Given the description of an element on the screen output the (x, y) to click on. 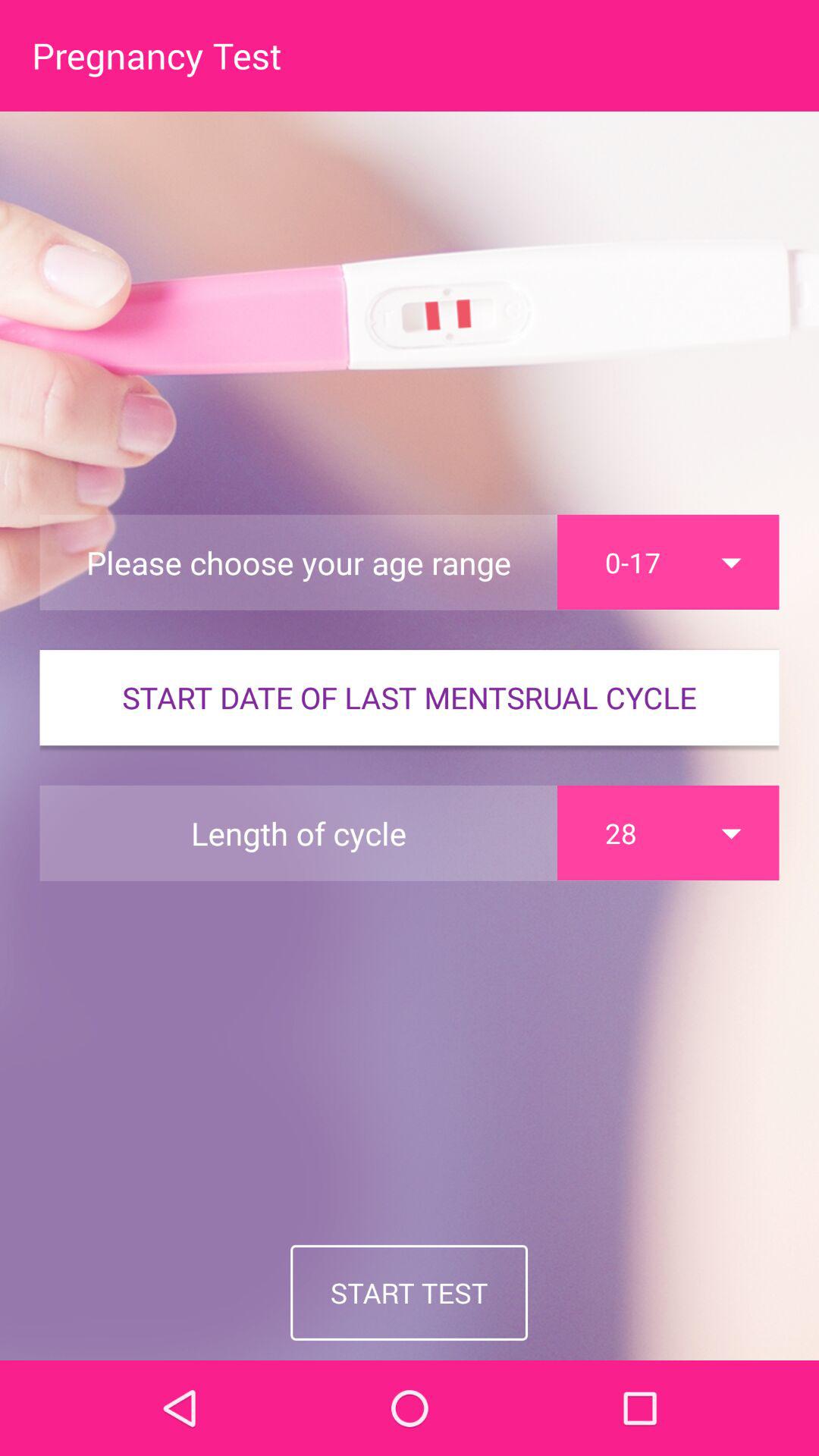
turn off the start test (408, 1292)
